Given the description of an element on the screen output the (x, y) to click on. 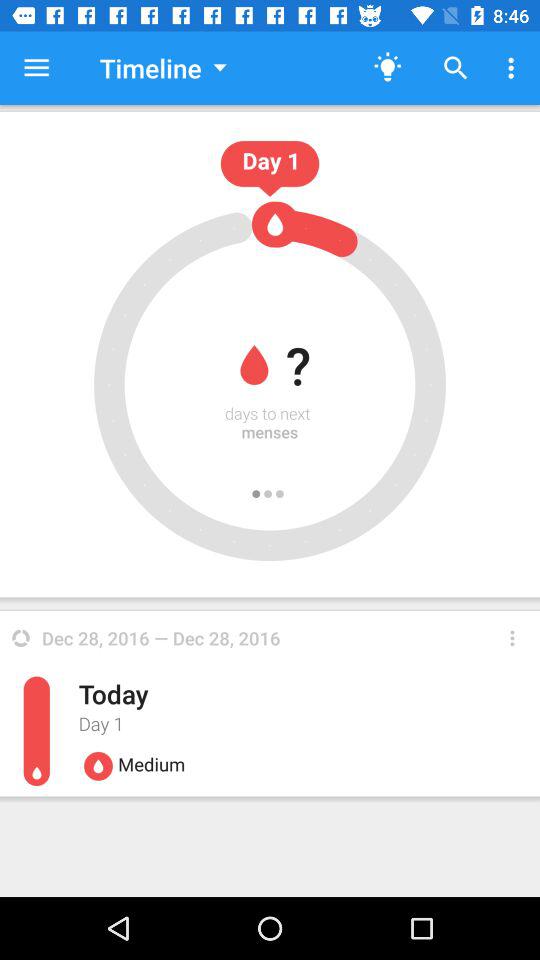
select more options button (512, 638)
